Given the description of an element on the screen output the (x, y) to click on. 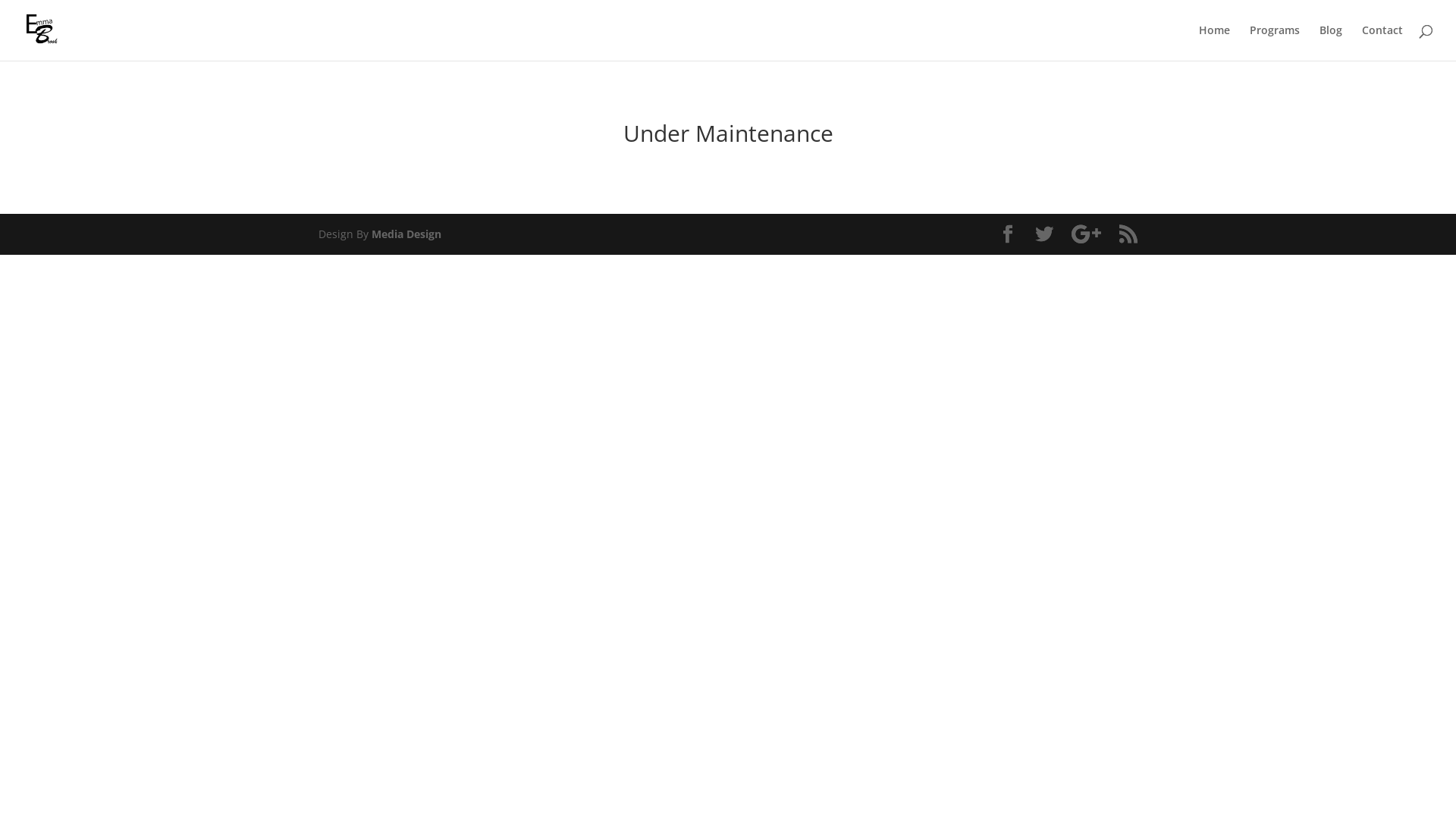
Blog Element type: text (1330, 42)
Contact Element type: text (1381, 42)
Home Element type: text (1214, 42)
Programs Element type: text (1274, 42)
Media Design Element type: text (406, 233)
